Given the description of an element on the screen output the (x, y) to click on. 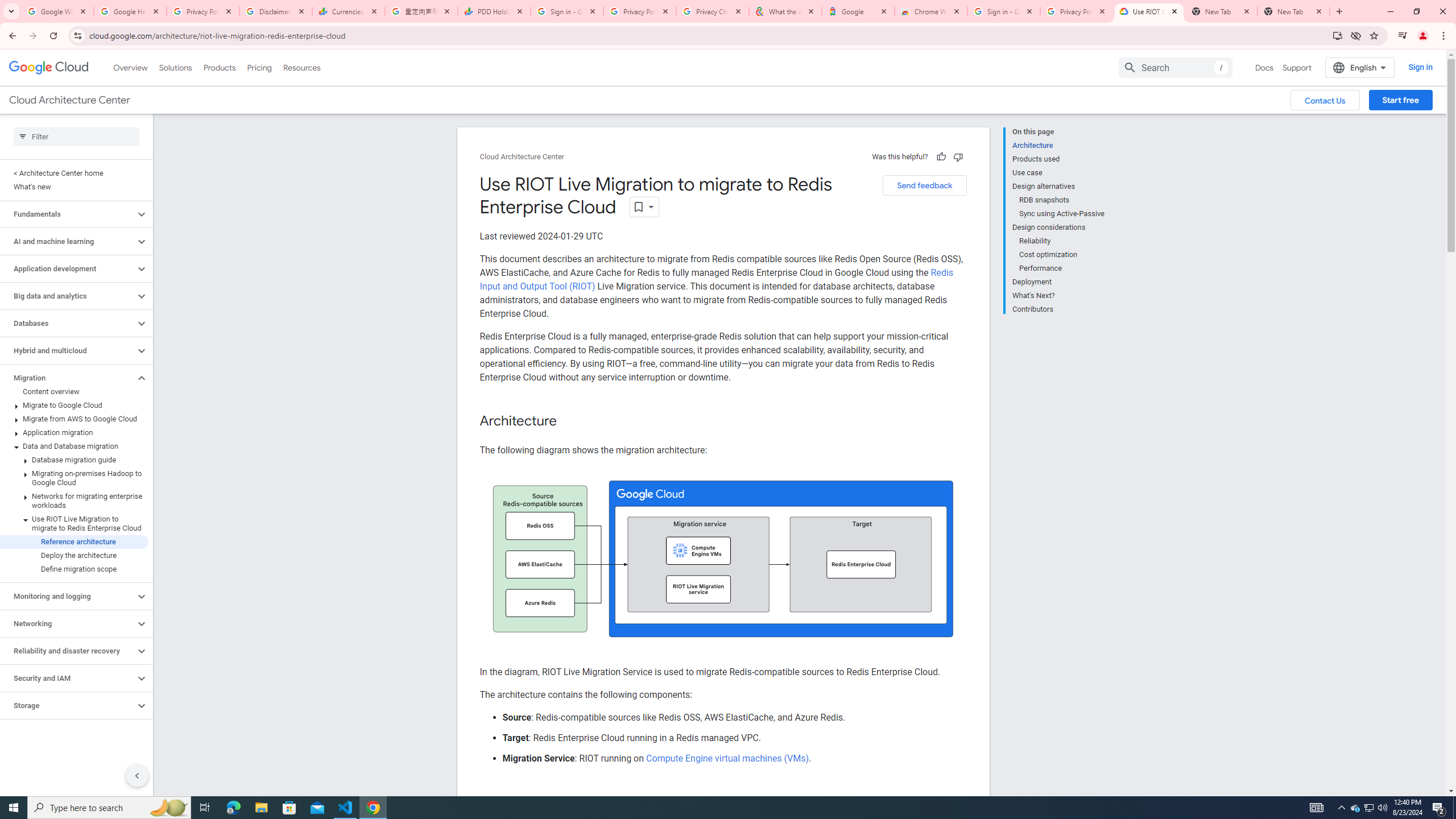
Helpful (940, 156)
Google Cloud (48, 67)
< Architecture Center home (74, 173)
Start free (1400, 100)
Performance (1062, 268)
Monitoring and logging (67, 596)
Sync using Active-Passive (1062, 213)
Migrating on-premises Hadoop to Google Cloud (74, 477)
Deployment (1058, 282)
